Given the description of an element on the screen output the (x, y) to click on. 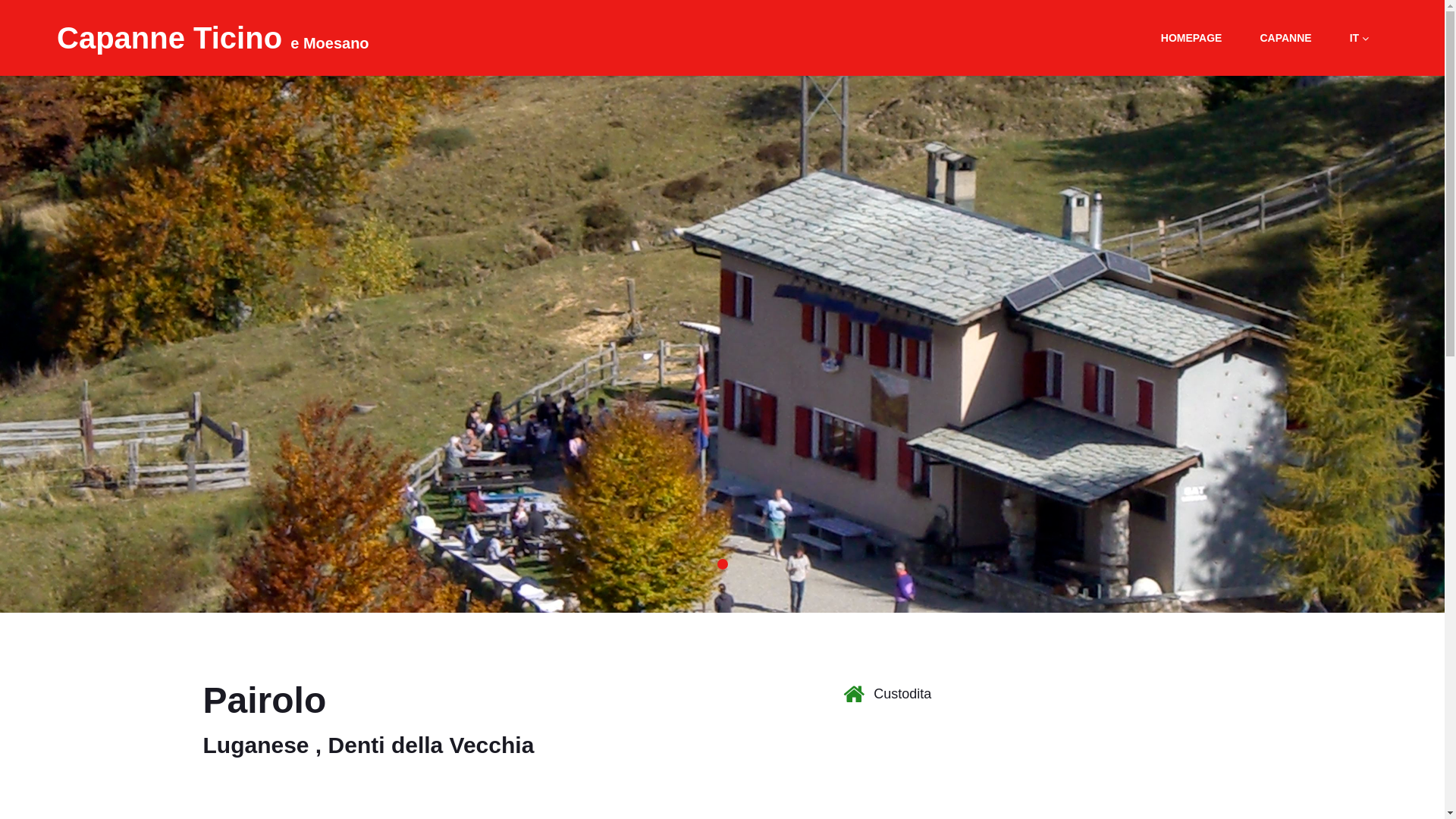
CAPANNE Element type: text (1285, 37)
HOMEPAGE Element type: text (1191, 37)
IT Element type: text (1358, 37)
Capanne Ticino e Moesano Element type: text (212, 40)
